Given the description of an element on the screen output the (x, y) to click on. 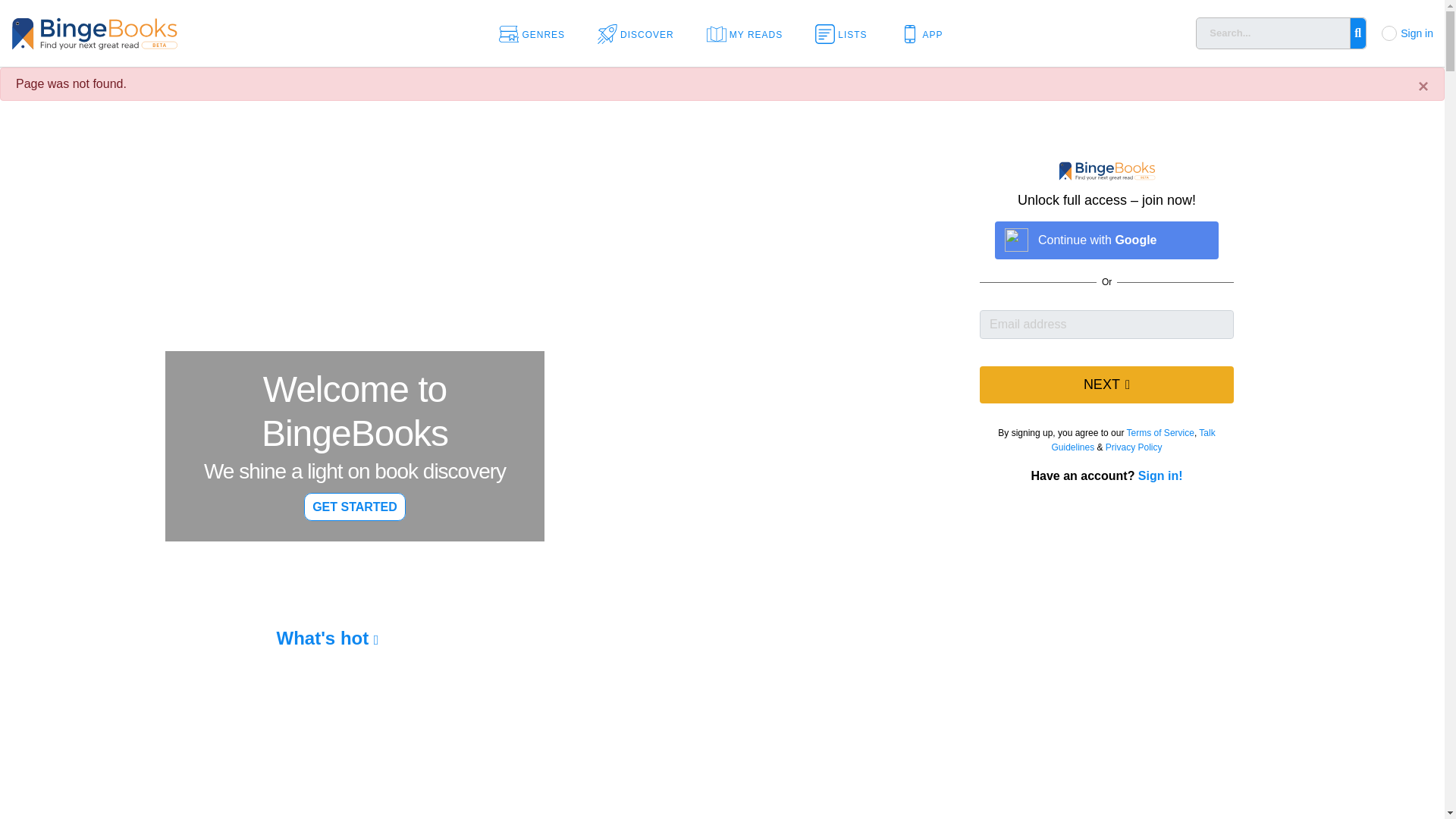
Discover (640, 33)
Find your next great read (144, 32)
Terms of Service (1159, 432)
MY READS (749, 33)
DISCOVER (640, 33)
NEXT (1106, 384)
Continue with Google (1106, 240)
Genres (537, 33)
Sign in (1416, 33)
What's hot (327, 638)
